Given the description of an element on the screen output the (x, y) to click on. 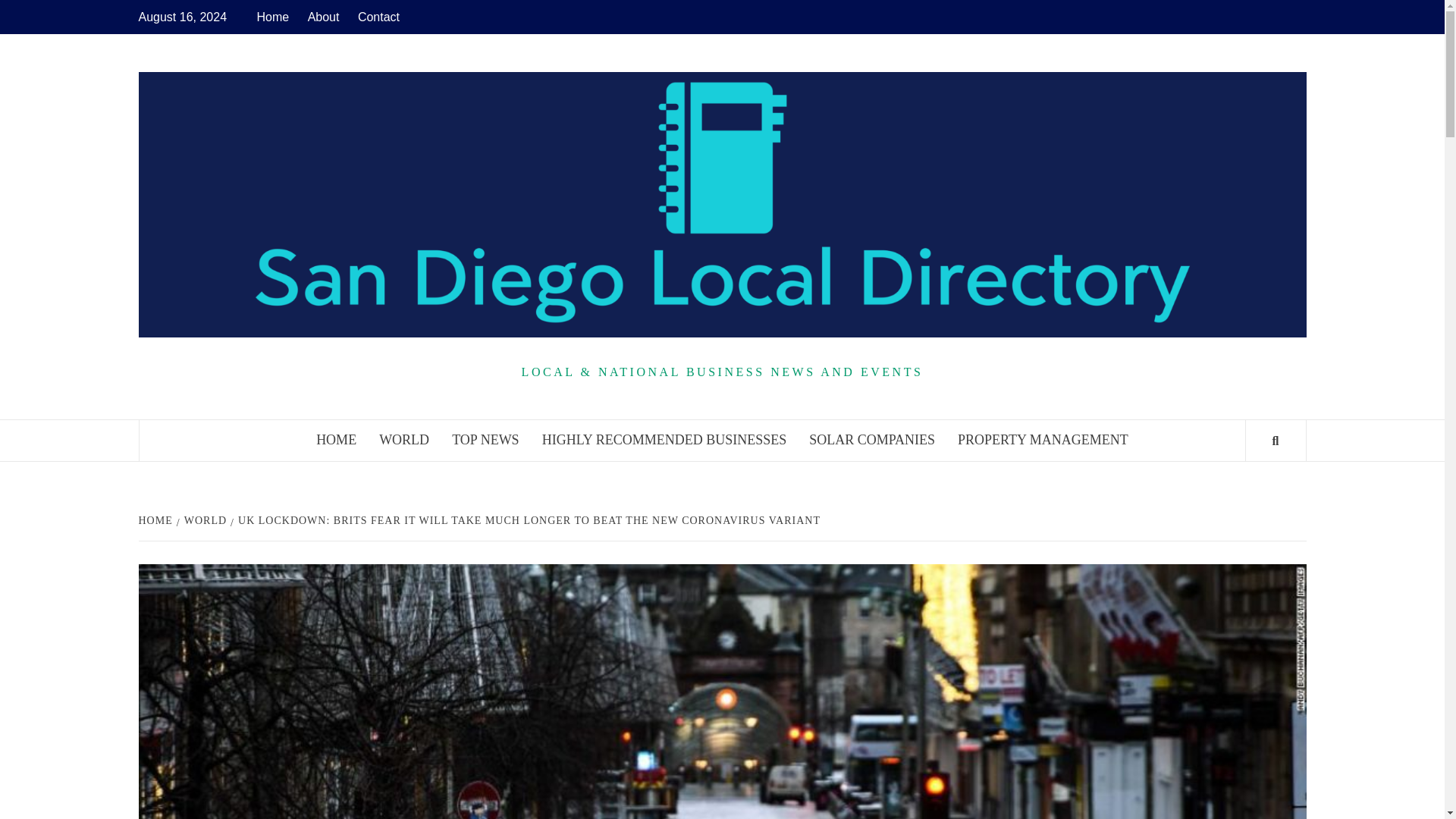
Home (276, 17)
HIGHLY RECOMMENDED BUSINESSES (664, 440)
HOME (157, 520)
About (323, 17)
HOME (336, 440)
WORLD (203, 520)
WORLD (404, 440)
PROPERTY MANAGEMENT (1043, 440)
SOLAR COMPANIES (871, 440)
